Given the description of an element on the screen output the (x, y) to click on. 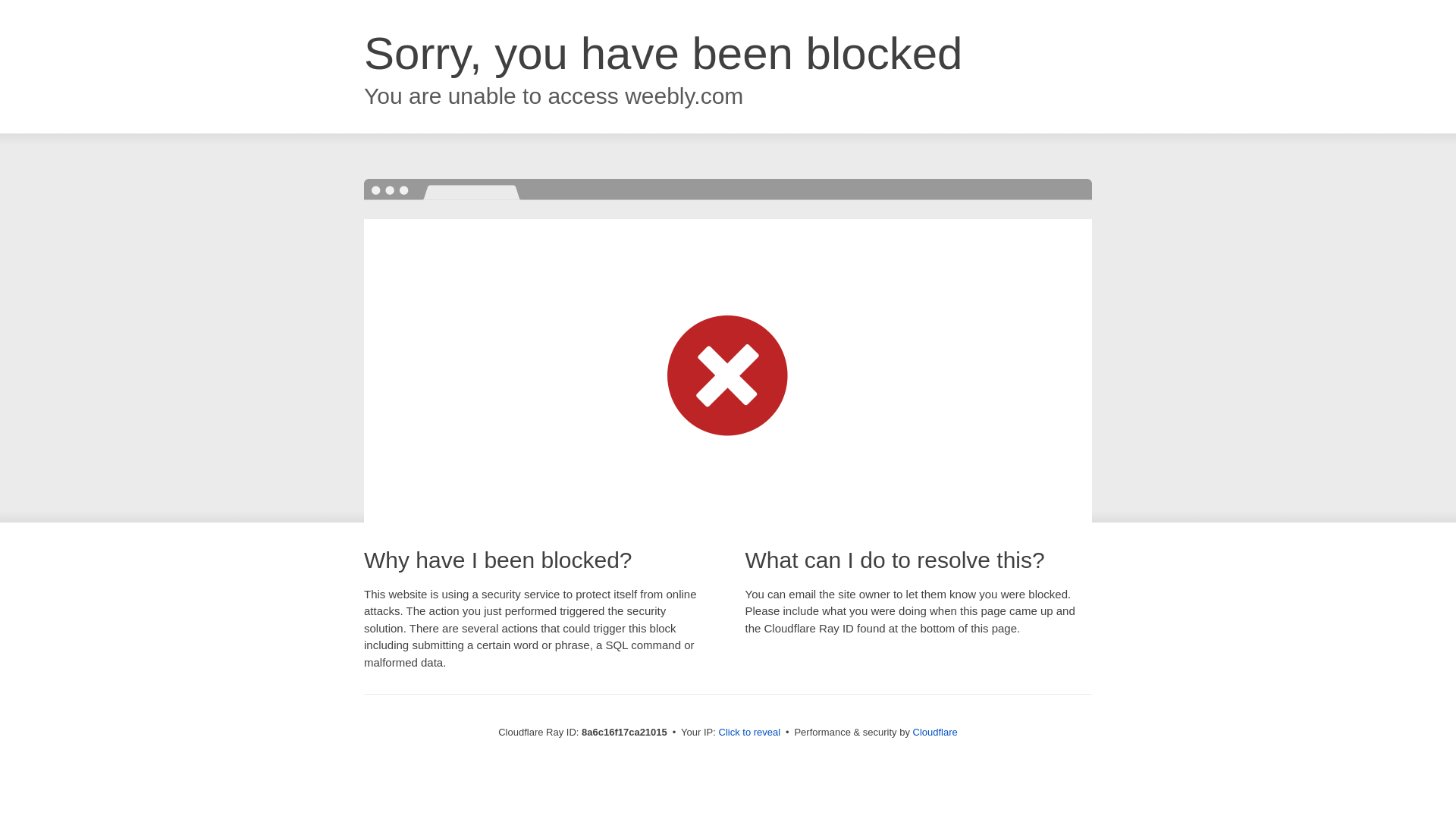
Click to reveal (749, 732)
Cloudflare (935, 731)
